Given the description of an element on the screen output the (x, y) to click on. 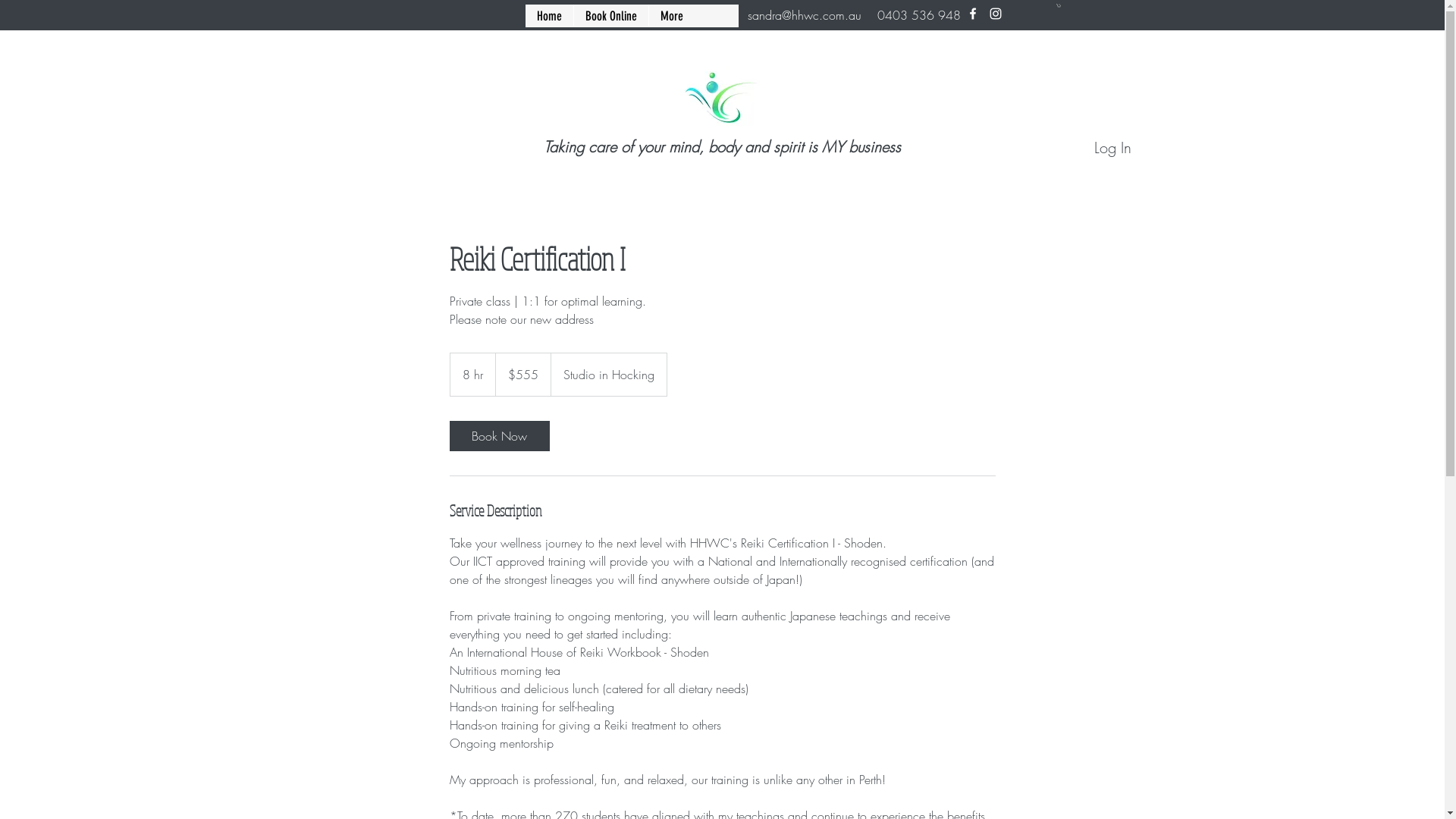
0 Element type: text (1057, 5)
Book Now Element type: text (498, 435)
Home Element type: text (548, 15)
sandra@hhwc.com.au Element type: text (804, 14)
Book Online Element type: text (610, 15)
Log In Element type: text (1111, 147)
